Given the description of an element on the screen output the (x, y) to click on. 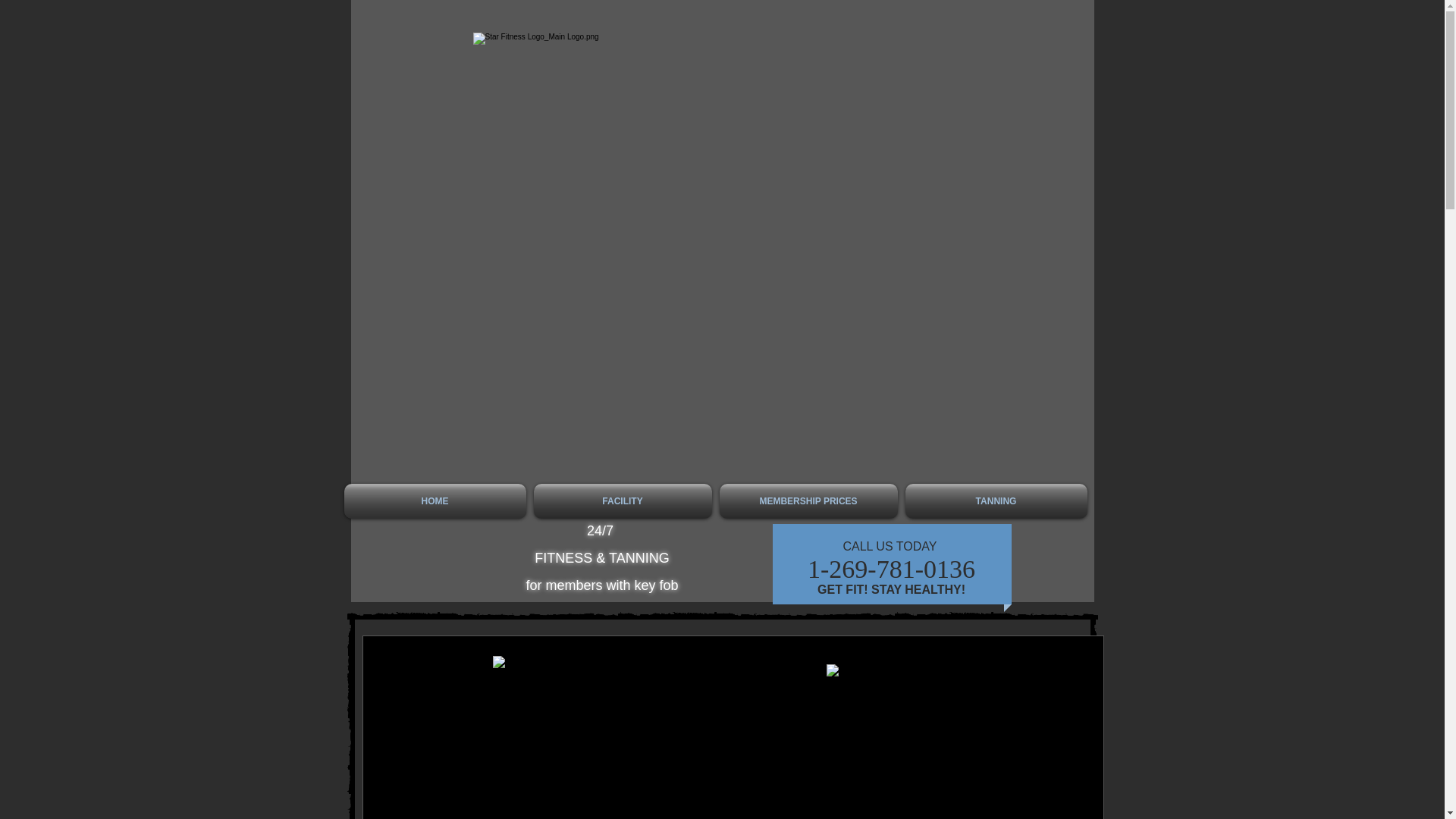
HOME (436, 501)
TANNING (993, 501)
FACILITY (621, 501)
MEMBERSHIP PRICES (808, 501)
